Given the description of an element on the screen output the (x, y) to click on. 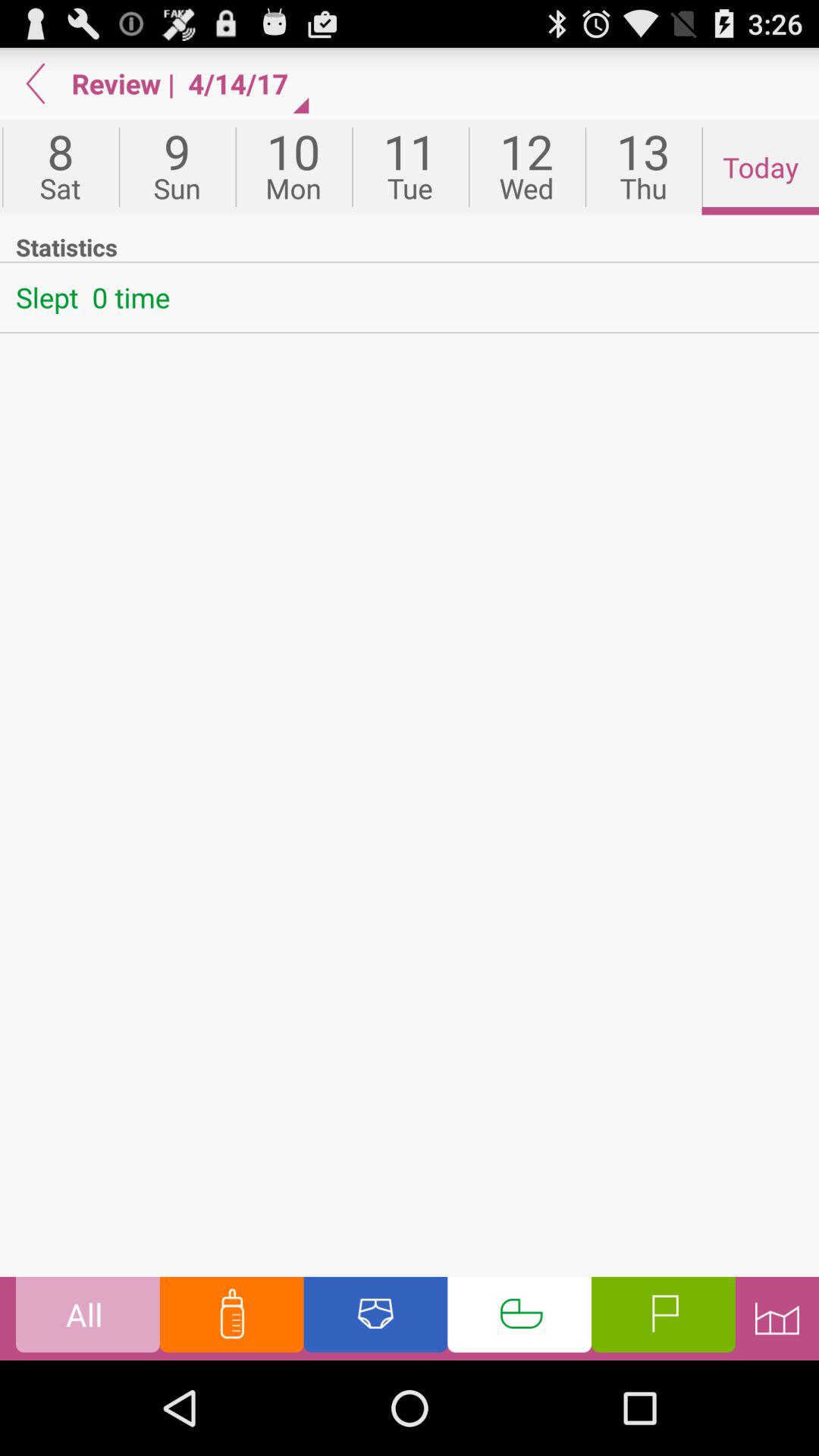
view sleep statistics (519, 1318)
